Given the description of an element on the screen output the (x, y) to click on. 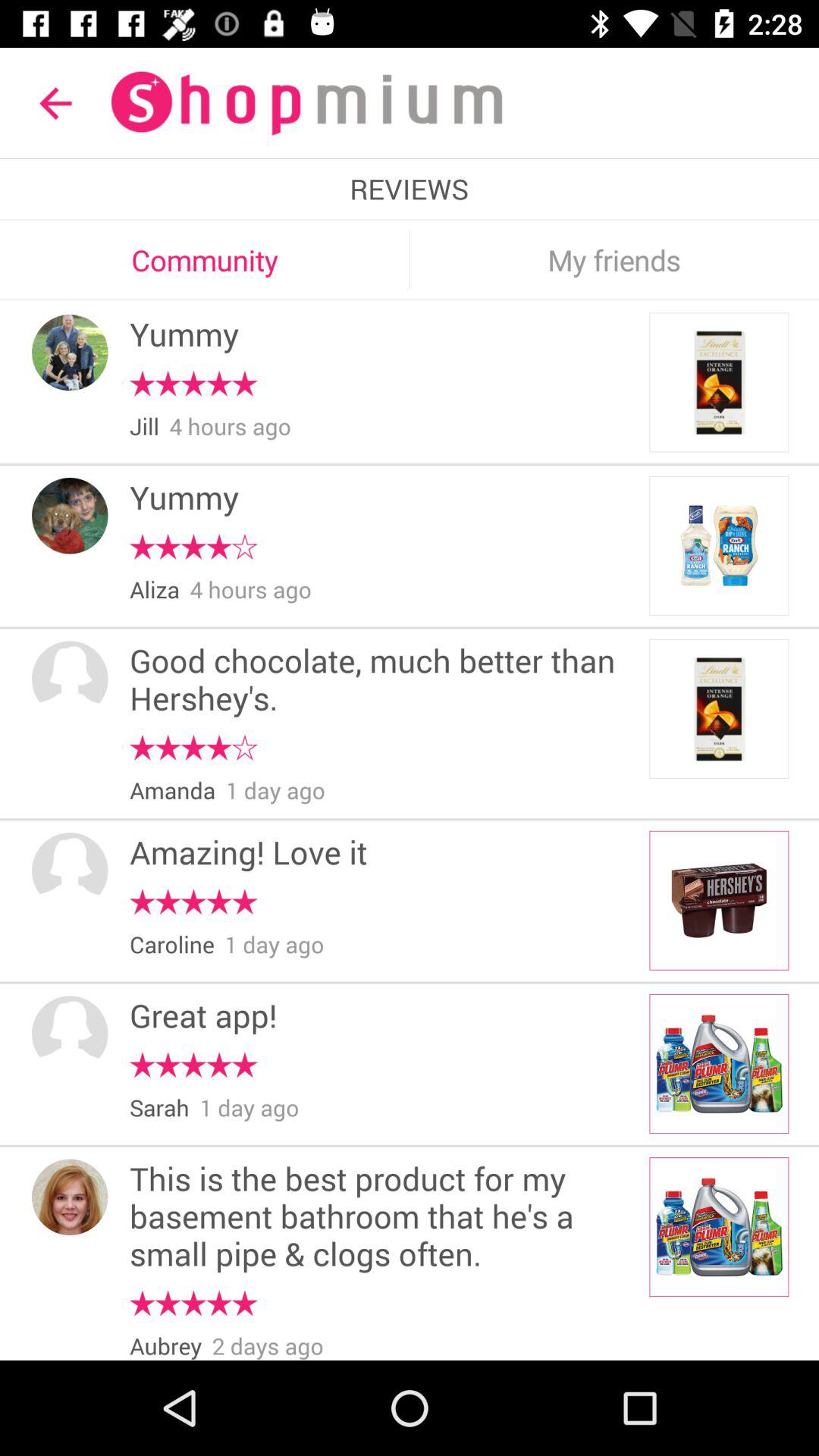
turn off the item to the left of the amazing! love it icon (69, 870)
